Given the description of an element on the screen output the (x, y) to click on. 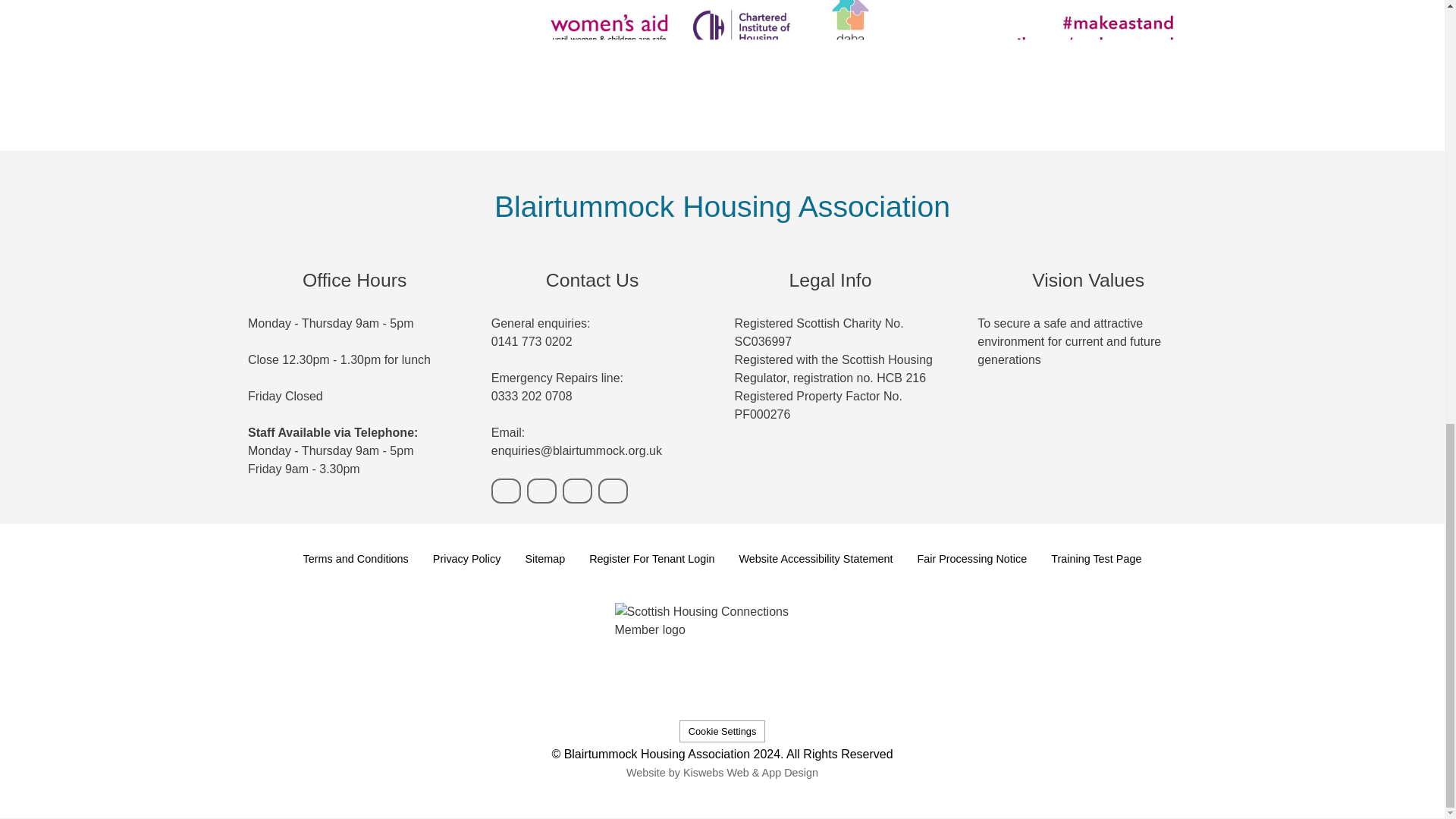
Email (541, 490)
X (612, 490)
Facebook (577, 490)
Phone (506, 490)
